Given the description of an element on the screen output the (x, y) to click on. 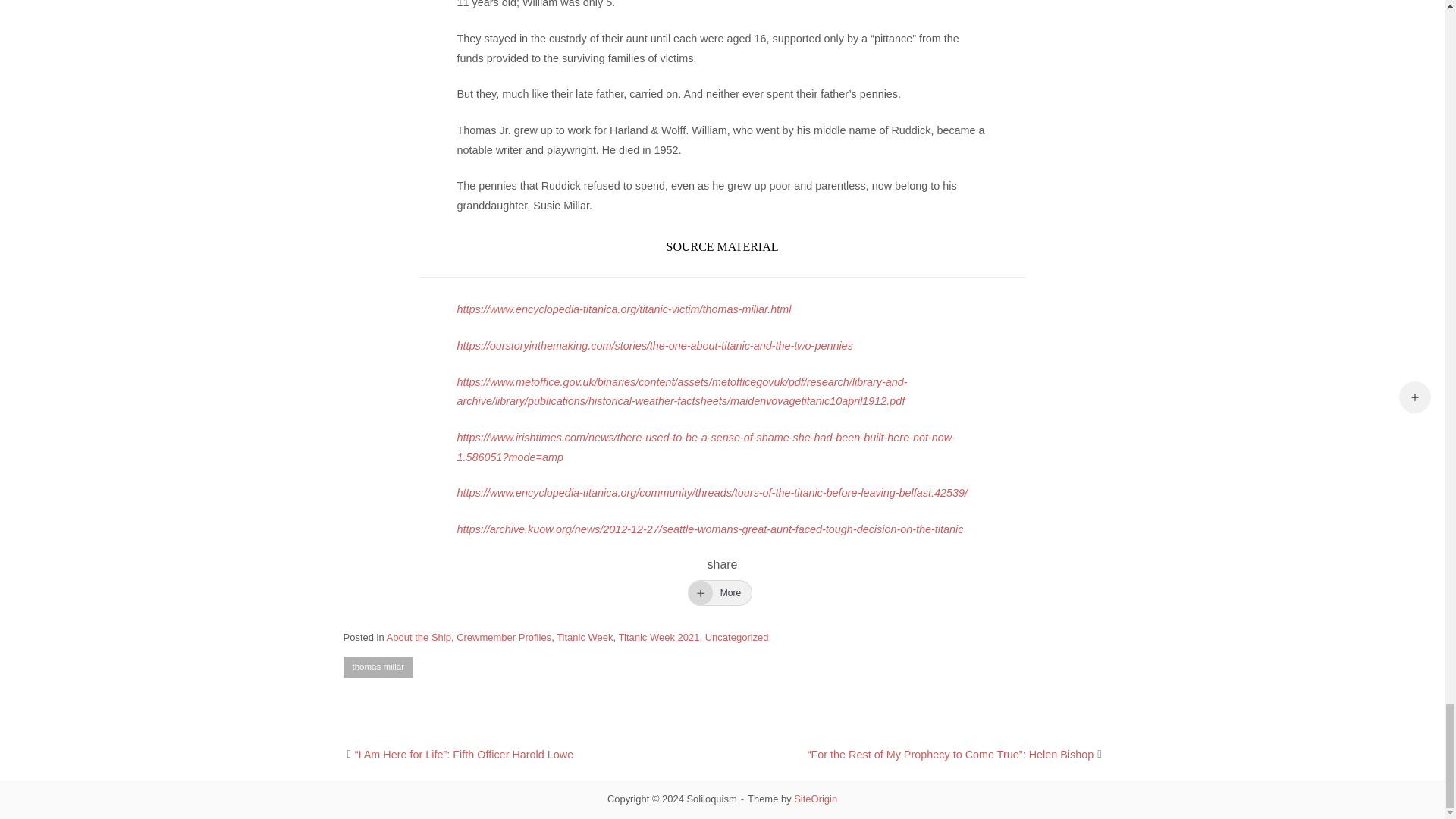
More (719, 592)
Uncategorized (736, 636)
SiteOrigin (815, 798)
About the Ship (419, 636)
Crewmember Profiles (504, 636)
thomas millar (377, 667)
Titanic Week 2021 (659, 636)
Titanic Week (584, 636)
